Given the description of an element on the screen output the (x, y) to click on. 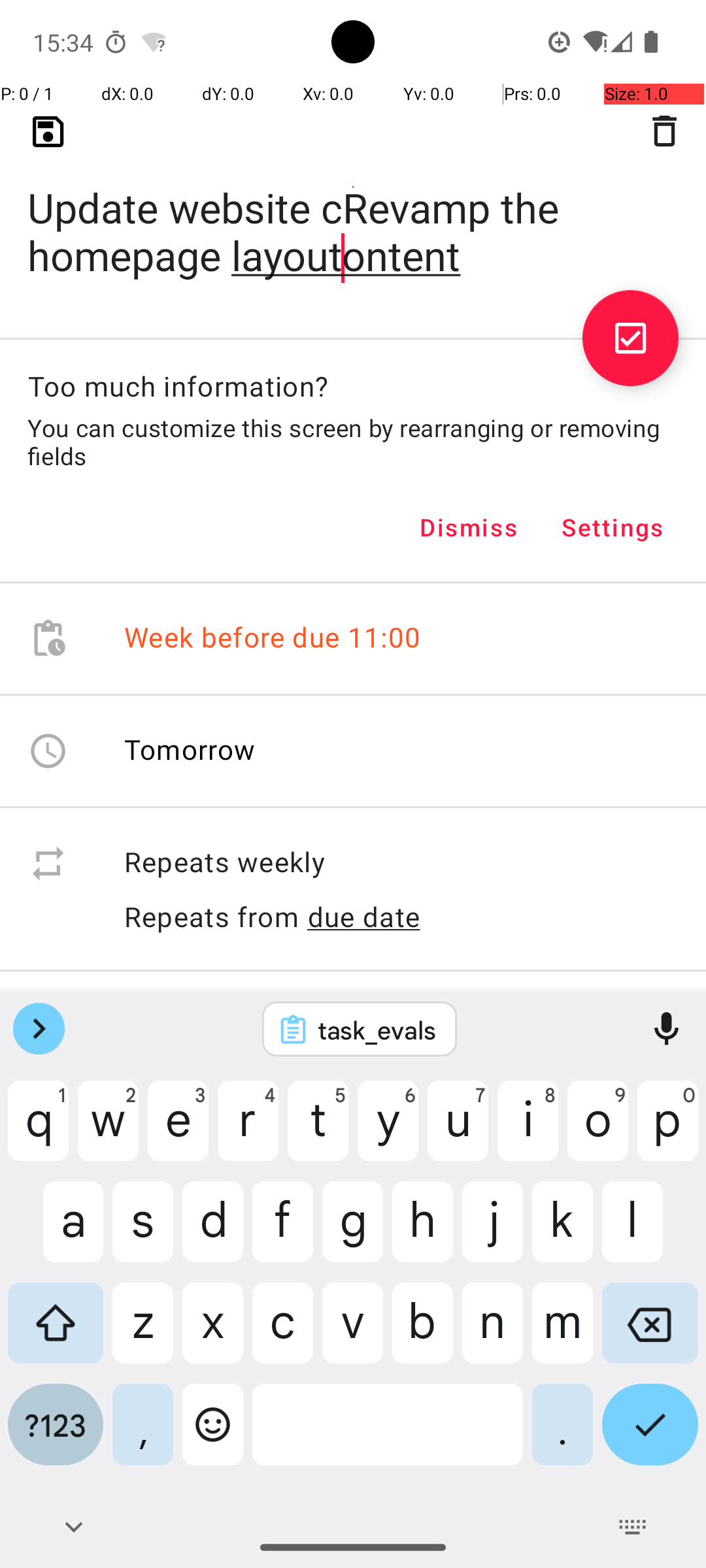
Update website cRevamp the homepage layoutontent Element type: android.widget.EditText (353, 210)
Week before due 11:00 Element type: android.widget.TextView (272, 638)
Repeats weekly Element type: android.widget.TextView (400, 862)
